Given the description of an element on the screen output the (x, y) to click on. 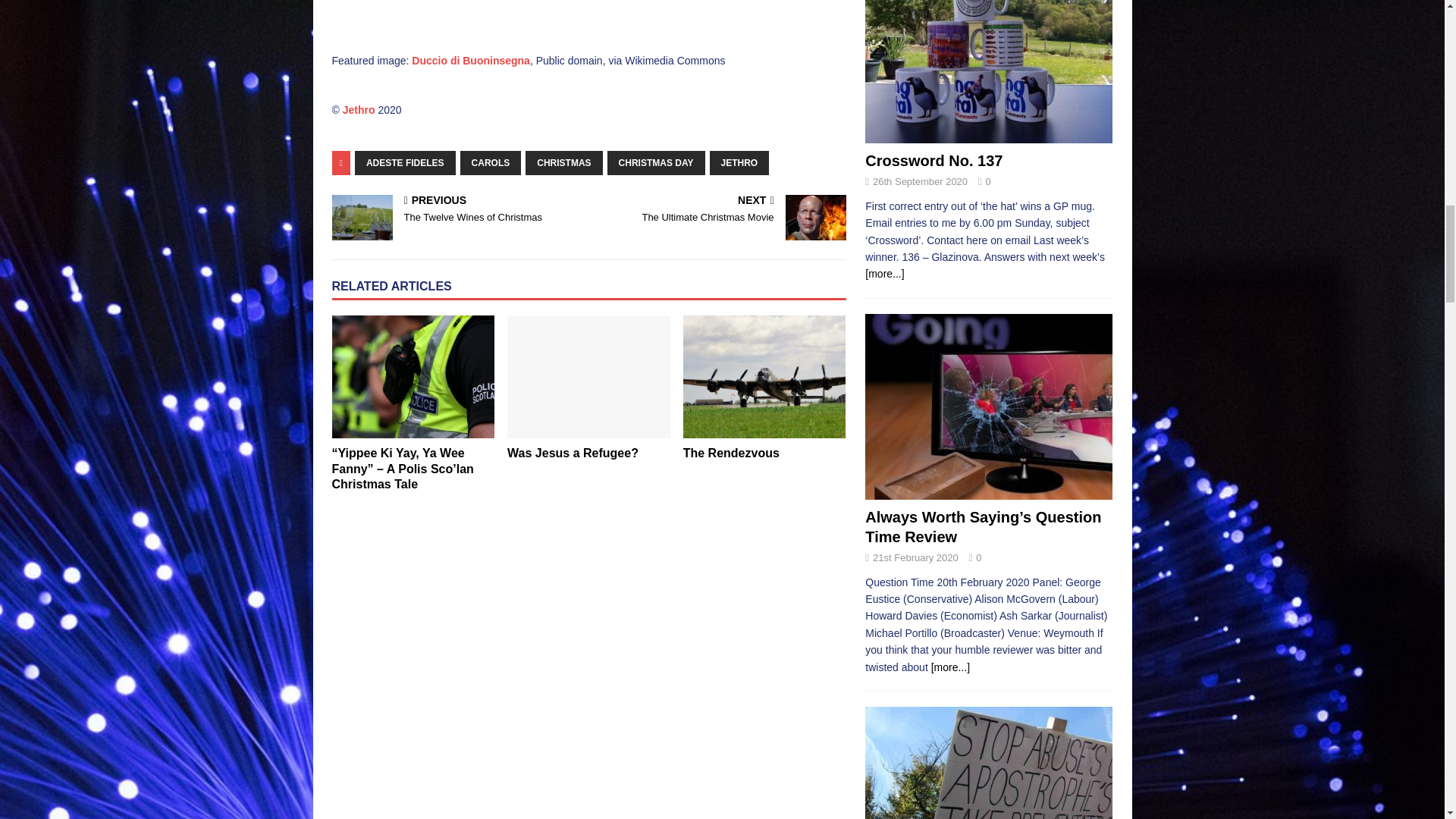
The Rendezvous (730, 452)
Was Jesus a Refugee? (572, 452)
The Rendezvous (763, 376)
Was Jesus a Refugee? (587, 376)
